Given the description of an element on the screen output the (x, y) to click on. 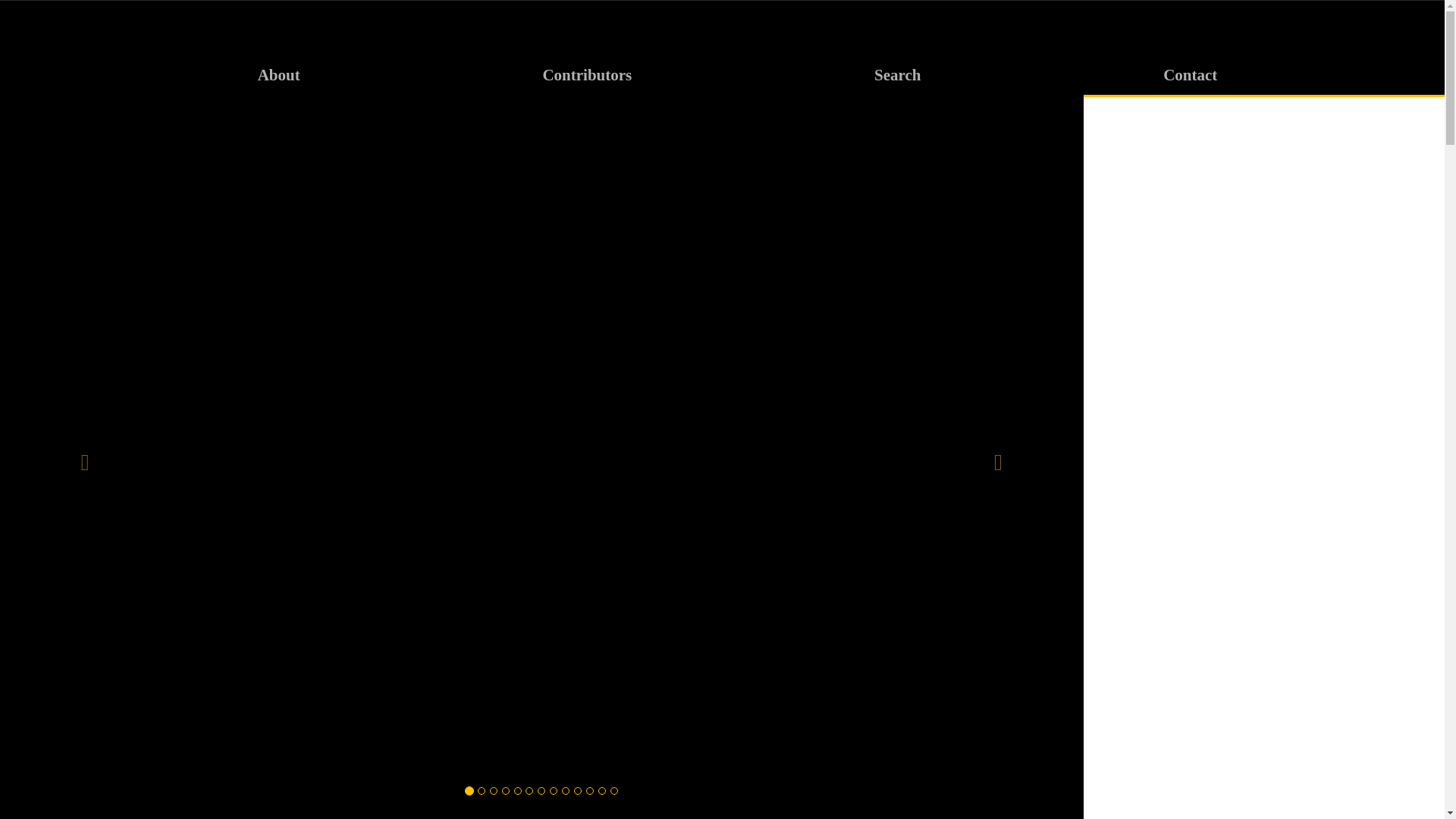
About (279, 74)
Contributors (586, 74)
Contact (1189, 74)
Search (897, 74)
